Given the description of an element on the screen output the (x, y) to click on. 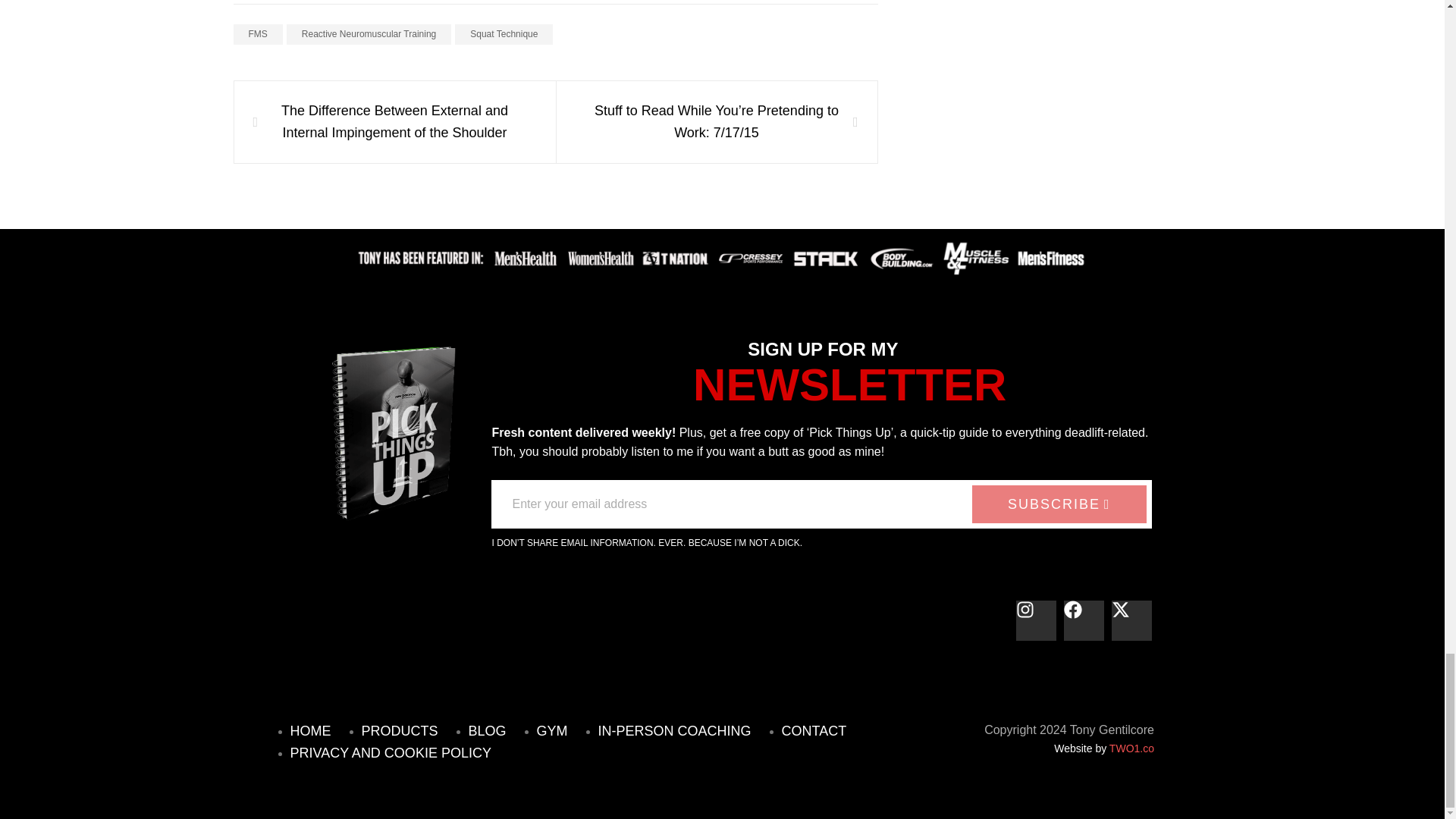
FMS (257, 34)
Reactive Neuromuscular Training (368, 34)
Squat Technique (503, 34)
